Given the description of an element on the screen output the (x, y) to click on. 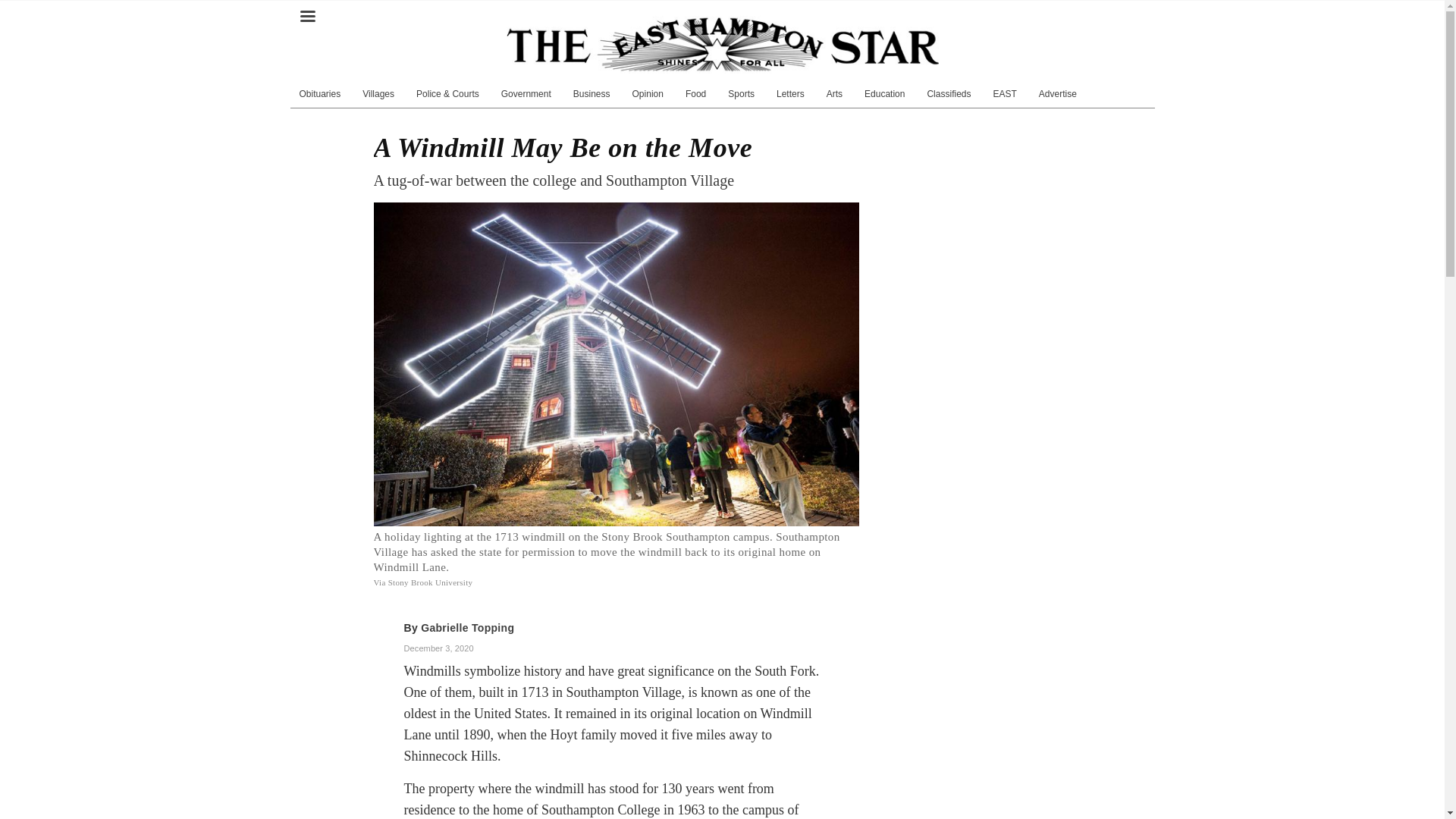
Business (592, 93)
Food (695, 93)
Arts (833, 93)
Gabrielle Topping (466, 627)
Villages (378, 93)
Home (722, 43)
Menu (306, 9)
MENU (306, 9)
Letters (790, 93)
